Given the description of an element on the screen output the (x, y) to click on. 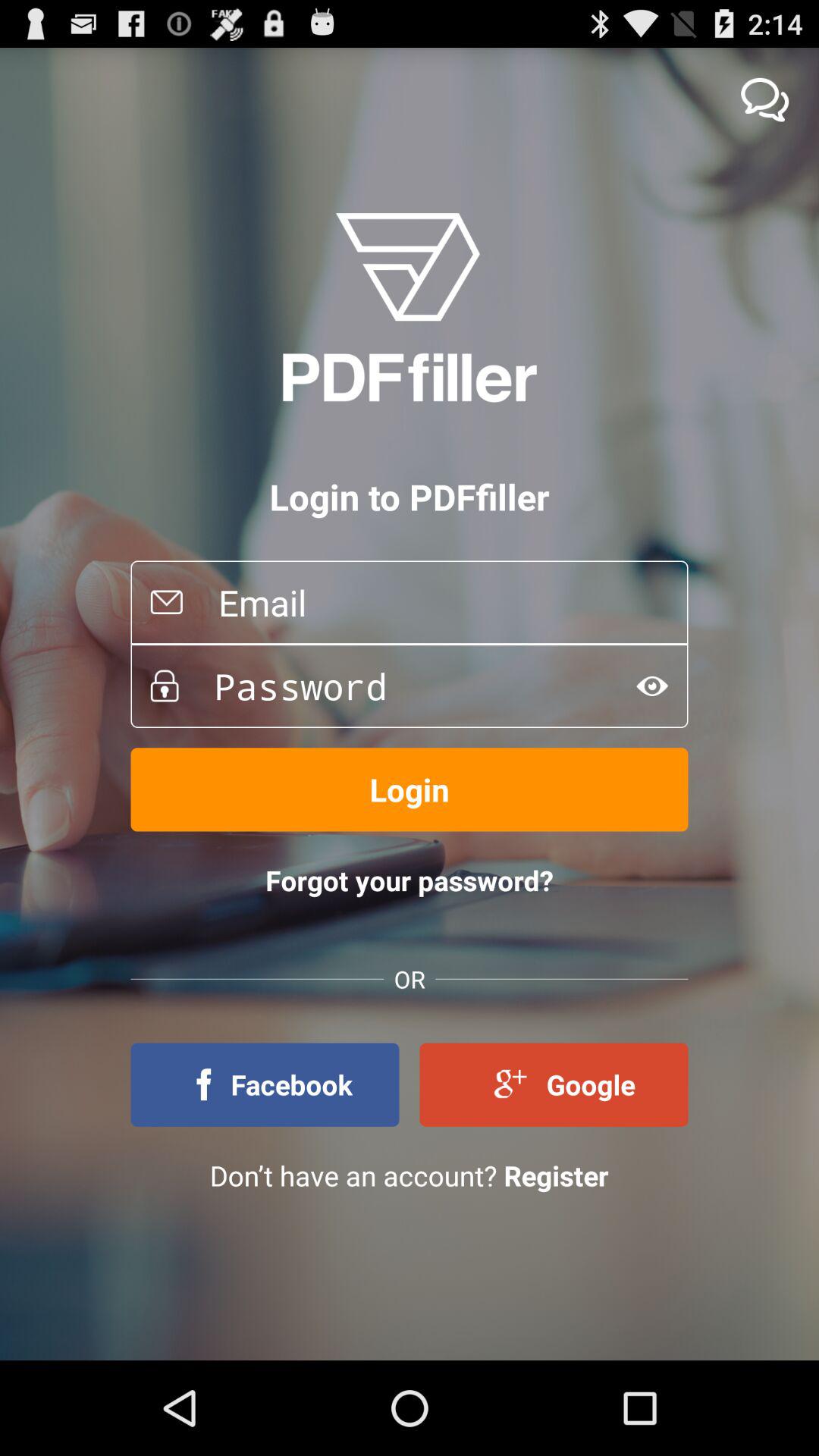
password textbox (397, 686)
